Given the description of an element on the screen output the (x, y) to click on. 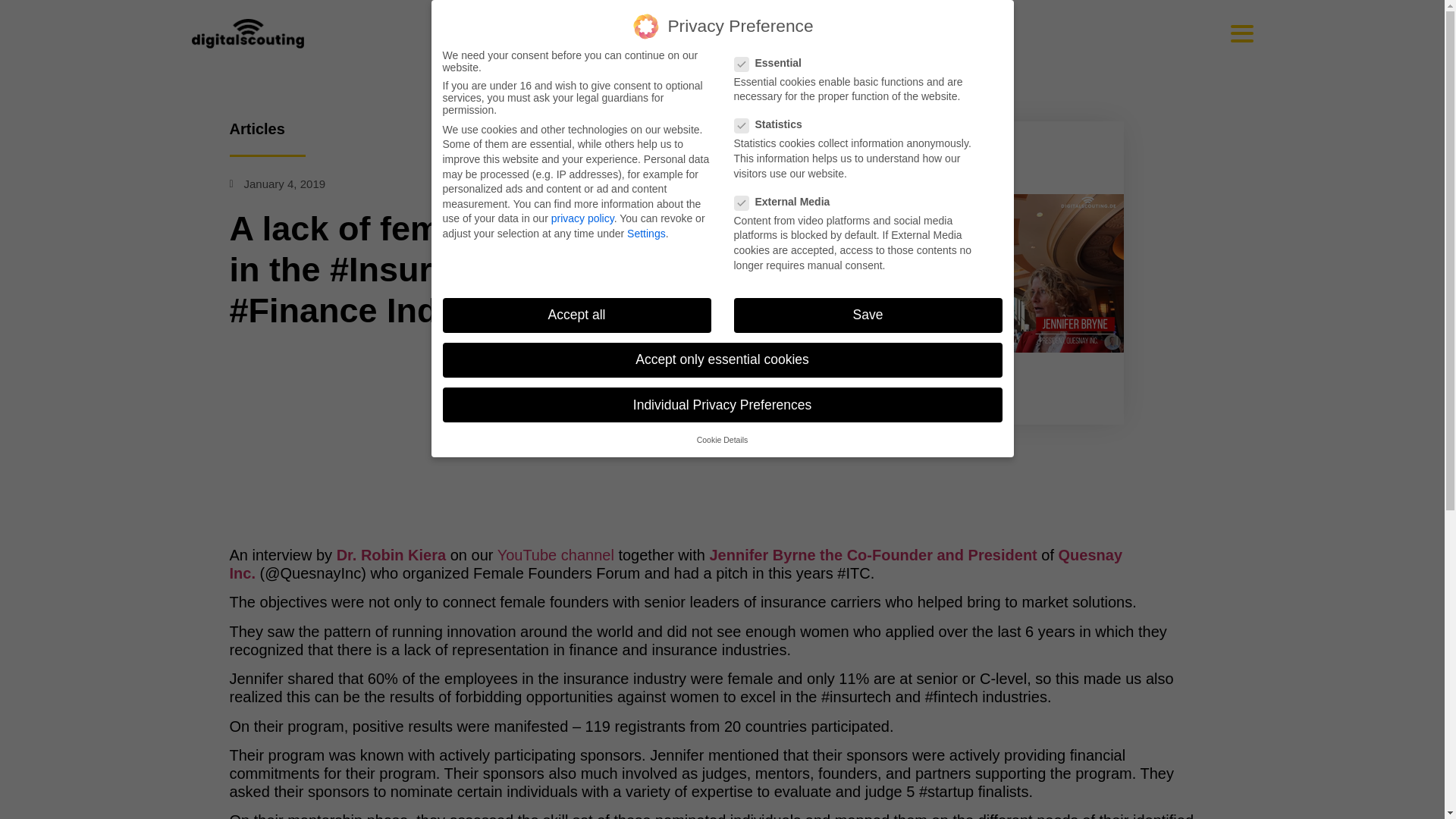
Accept only essential cookies (722, 360)
Dr. Robin Kiera (390, 555)
January 4, 2019 (276, 184)
Quesnay Inc. (675, 564)
privacy policy (582, 218)
Accept all (576, 315)
Individual Privacy Preferences (722, 404)
Jennifer Byrne the Co-Founder and President (872, 555)
Chatbot (1383, 758)
YouTube channel (555, 555)
Settings (646, 233)
Save (868, 315)
